Given the description of an element on the screen output the (x, y) to click on. 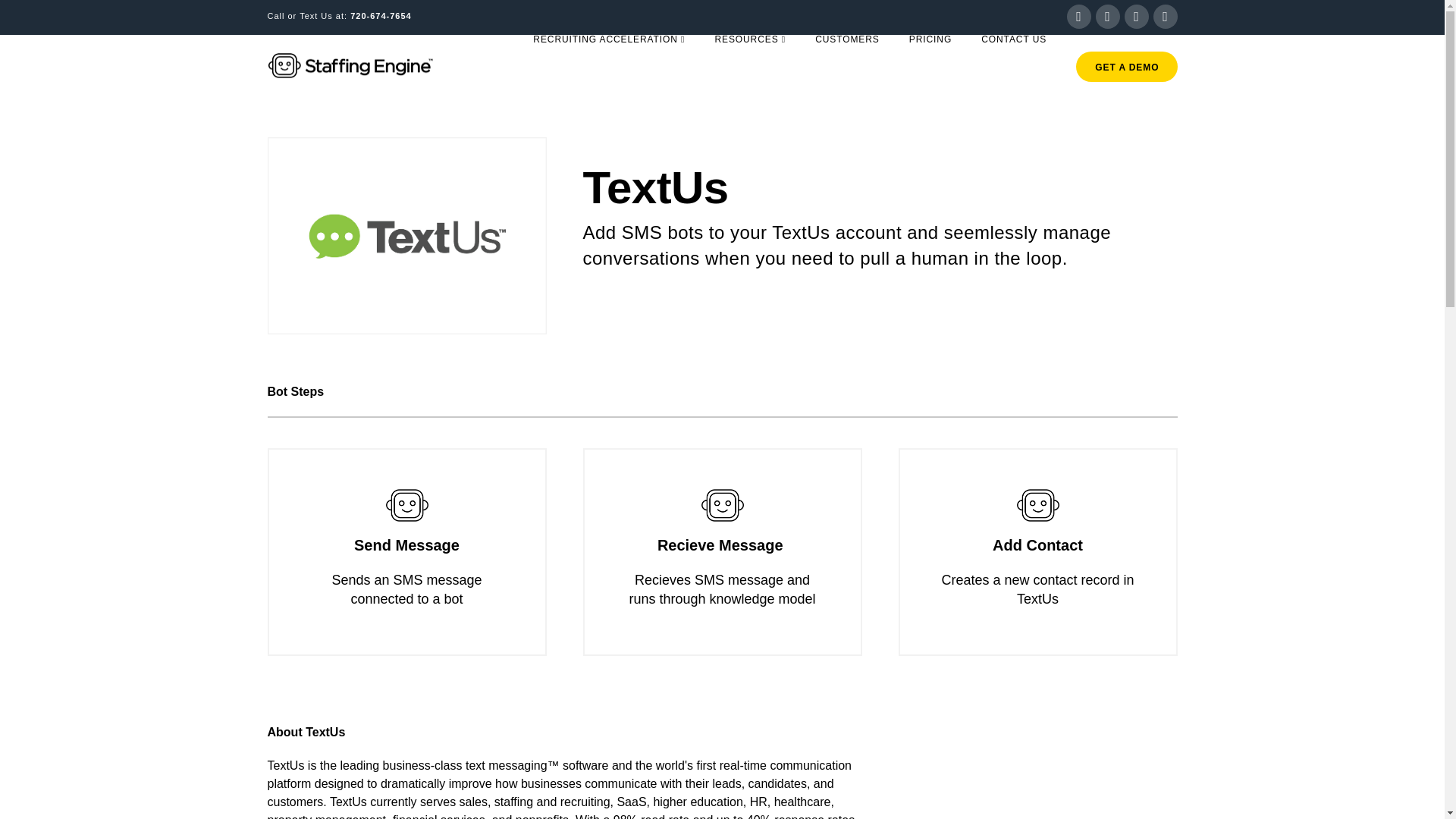
YouTube (1136, 16)
LinkedIn (1106, 16)
PRICING (929, 69)
CONTACT US (1013, 69)
Instagram (1164, 16)
Twitter (1077, 16)
RECRUITING ACCELERATION (608, 69)
GET A DEMO (1125, 66)
RESOURCES (748, 69)
CUSTOMERS (846, 69)
